Given the description of an element on the screen output the (x, y) to click on. 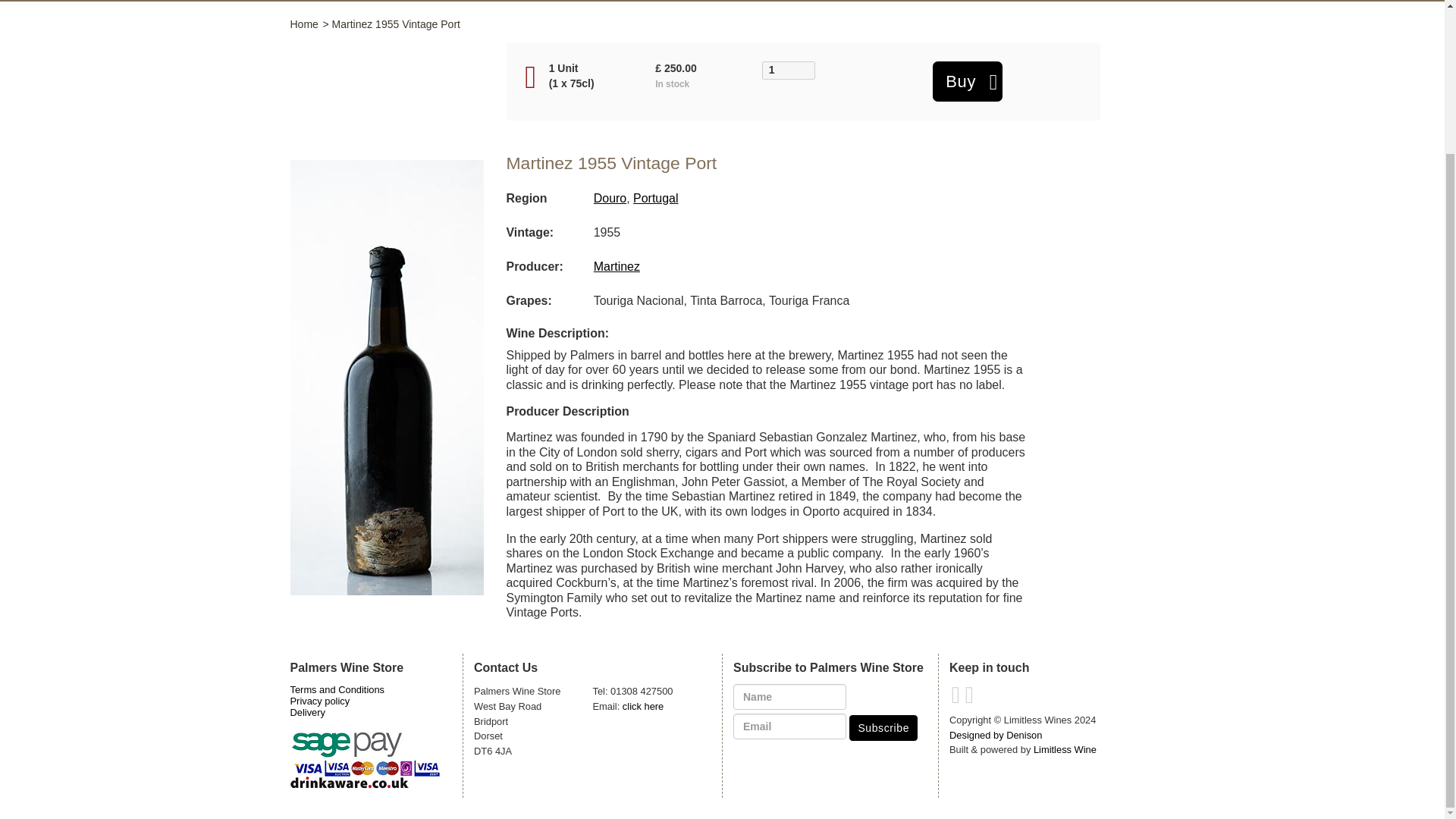
Home (303, 24)
View products from Douro (610, 197)
Subscribe (882, 727)
Martinez 1955 Vintage Port (395, 24)
View products from Portugal (655, 197)
Drinkaware (348, 782)
Martinez (617, 266)
1 (788, 70)
